Given the description of an element on the screen output the (x, y) to click on. 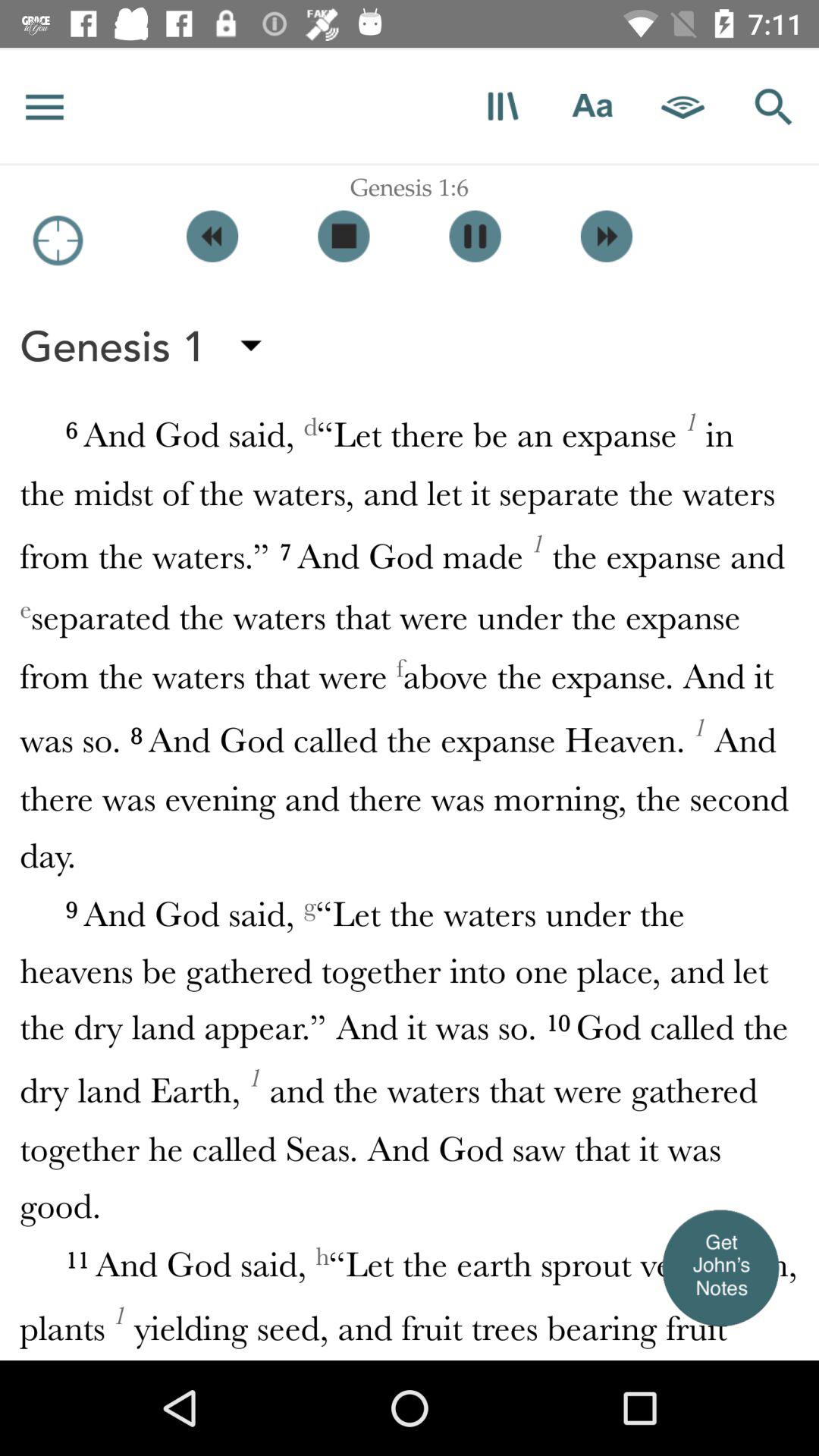
options (45, 106)
